Given the description of an element on the screen output the (x, y) to click on. 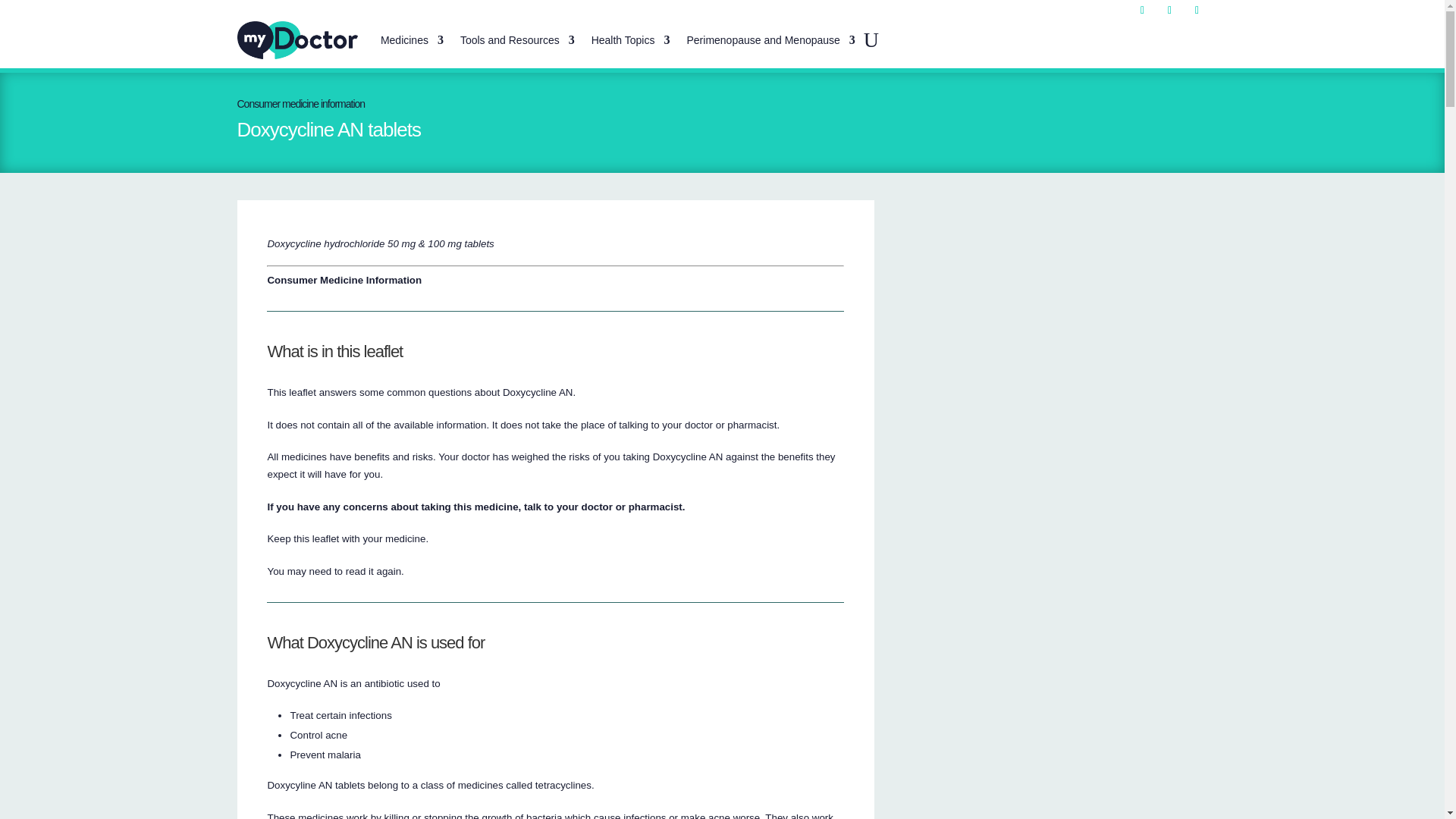
Tools and Resources (517, 39)
Perimenopause and Menopause (769, 39)
Follow on Instagram (1168, 10)
Health Topics (630, 39)
Follow on TikTok (1196, 10)
Medicines (412, 39)
Follow on Facebook (1142, 10)
